Given the description of an element on the screen output the (x, y) to click on. 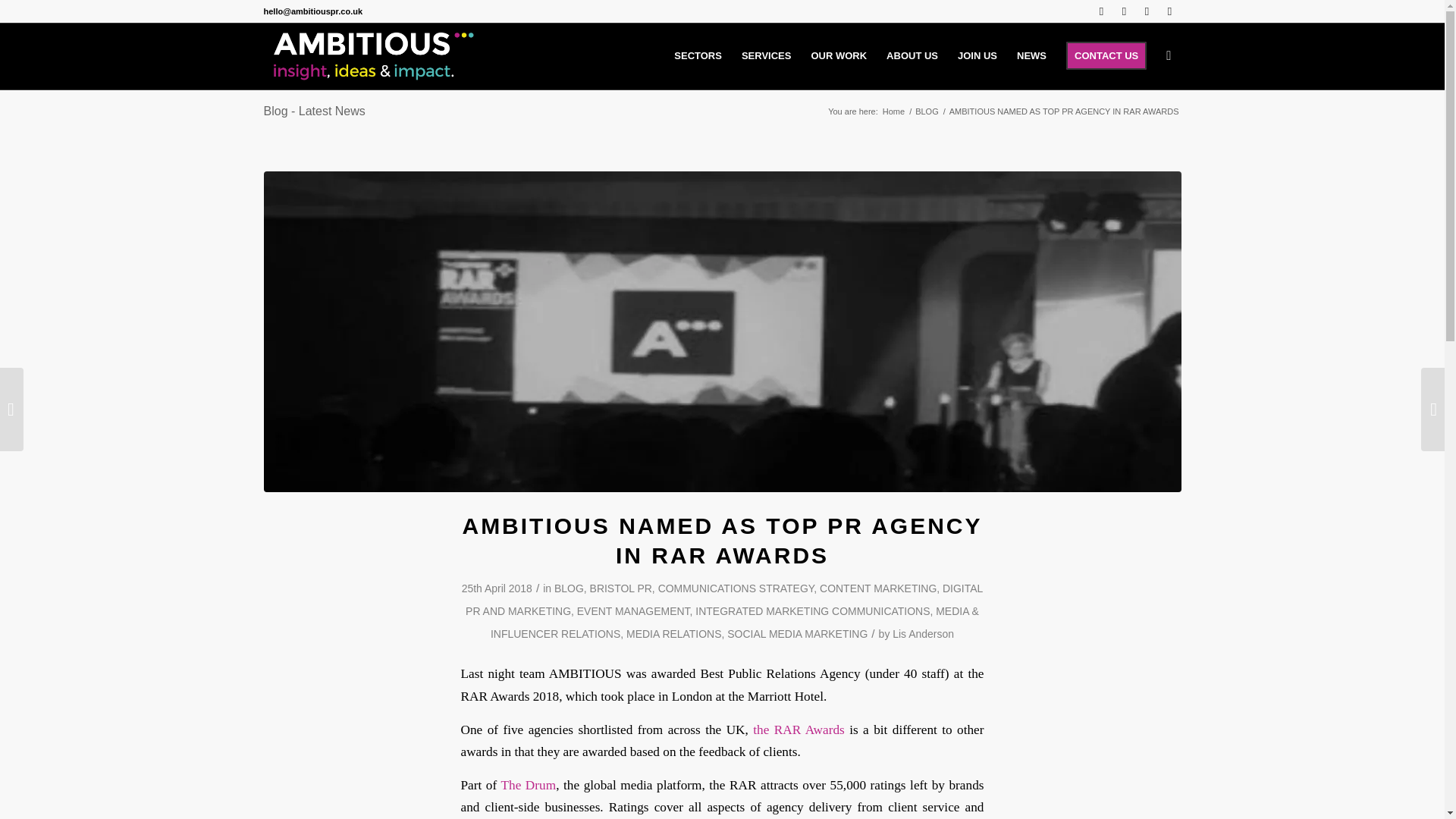
Instagram (1169, 11)
Home (893, 111)
Twitter (1101, 11)
Permanent Link: Blog - Latest News (314, 110)
Facebook (1146, 11)
ABOUT US (911, 55)
SECTORS (697, 55)
Posts by Lis Anderson (922, 633)
Blog - Latest News (314, 110)
